Given the description of an element on the screen output the (x, y) to click on. 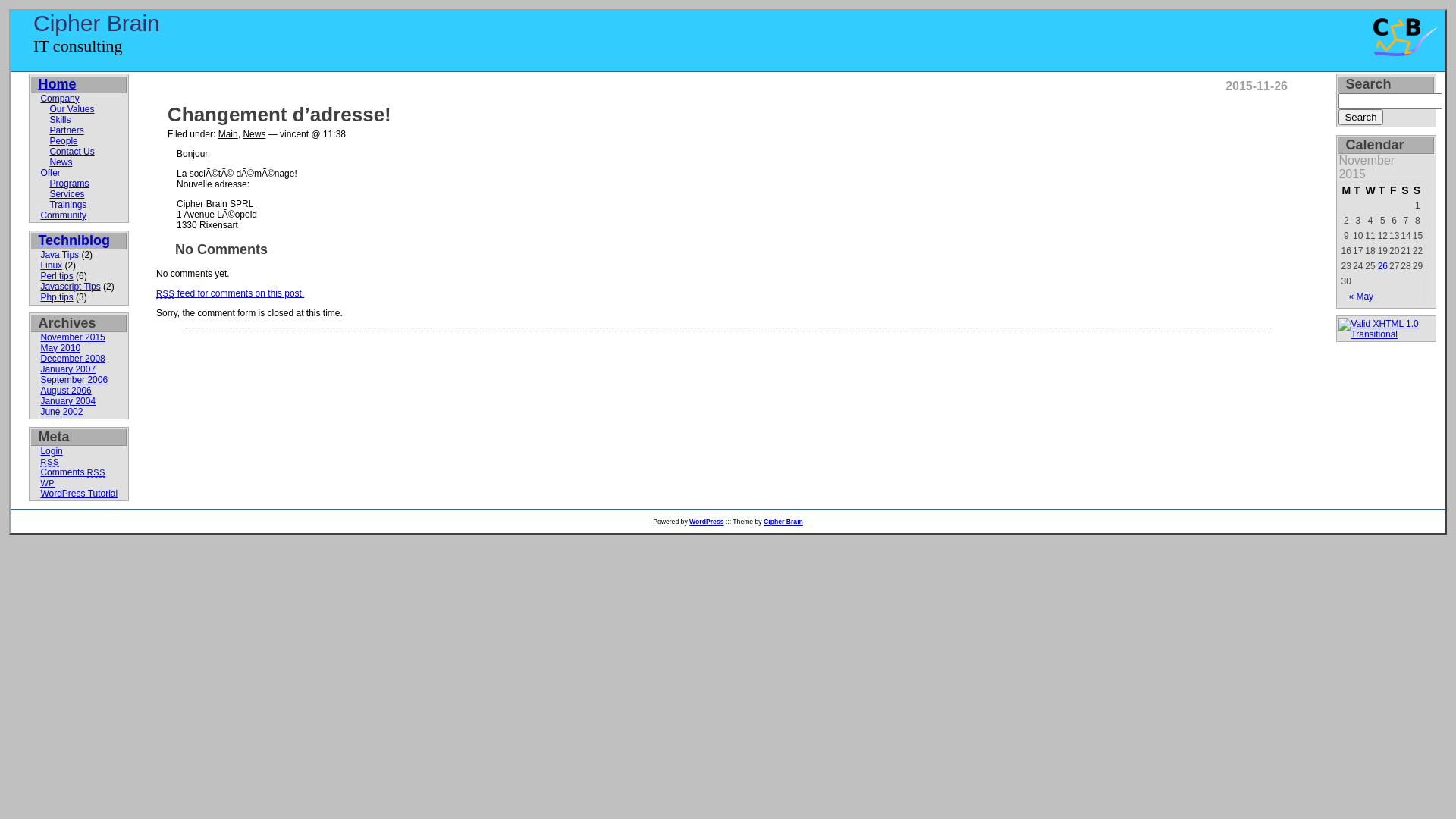
Our Values Element type: text (71, 108)
Services Element type: text (66, 193)
Comments RSS Element type: text (72, 472)
News Element type: text (253, 133)
December 2008 Element type: text (72, 358)
May 2010 Element type: text (60, 347)
Cipher Brain Element type: text (96, 22)
RSS Element type: text (49, 461)
Programs Element type: text (68, 183)
Contact Us Element type: text (71, 151)
Skills Element type: text (59, 119)
September 2006 Element type: text (73, 379)
Main Element type: text (228, 133)
Php tips Element type: text (56, 296)
26 Element type: text (1382, 265)
Techniblog Element type: text (73, 239)
WordPress Element type: text (706, 521)
Community Element type: text (63, 215)
Search Element type: text (1360, 117)
January 2007 Element type: text (67, 369)
Java Tips Element type: text (59, 254)
Home Element type: text (56, 83)
Company Element type: text (59, 98)
WordPress Tutorial Element type: text (78, 493)
January 2004 Element type: text (67, 400)
August 2006 Element type: text (65, 390)
Cipher Brain Element type: text (783, 521)
November 2015 Element type: text (72, 337)
Javascript Tips Element type: text (70, 286)
WP Element type: text (47, 482)
Trainings Element type: text (67, 204)
Offer Element type: text (49, 172)
Login Element type: text (51, 450)
News Element type: text (60, 161)
June 2002 Element type: text (61, 411)
Partners Element type: text (66, 130)
Perl tips Element type: text (56, 275)
People Element type: text (63, 140)
Linux Element type: text (51, 265)
RSS feed for comments on this post. Element type: text (230, 293)
